Given the description of an element on the screen output the (x, y) to click on. 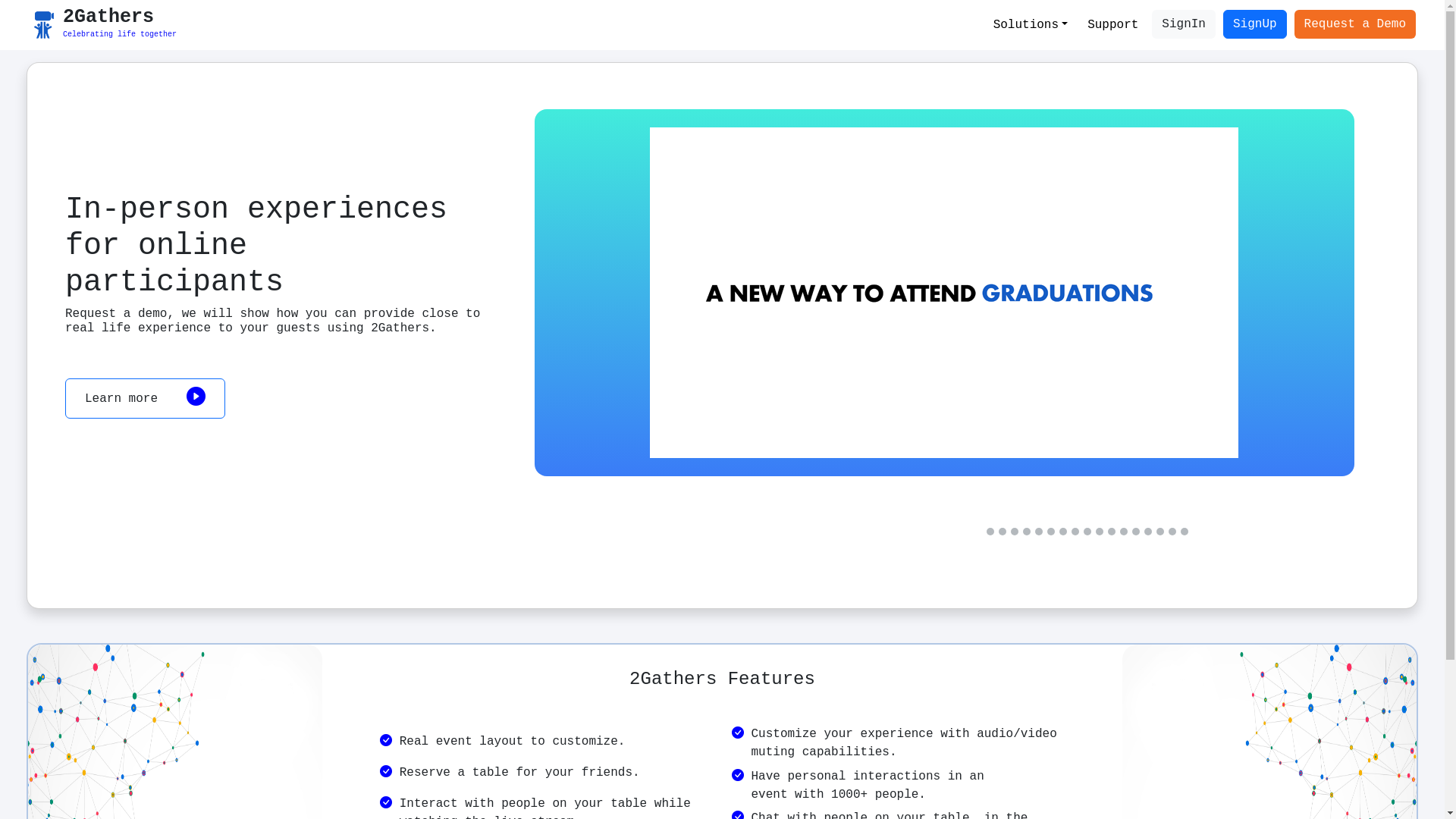
Request a Demo Element type: text (1354, 23)
SignIn Element type: text (1183, 23)
SignUp Element type: text (1254, 23)
Solutions Element type: text (1030, 24)
Learn more     Element type: text (144, 453)
Support Element type: text (1112, 24)
